Given the description of an element on the screen output the (x, y) to click on. 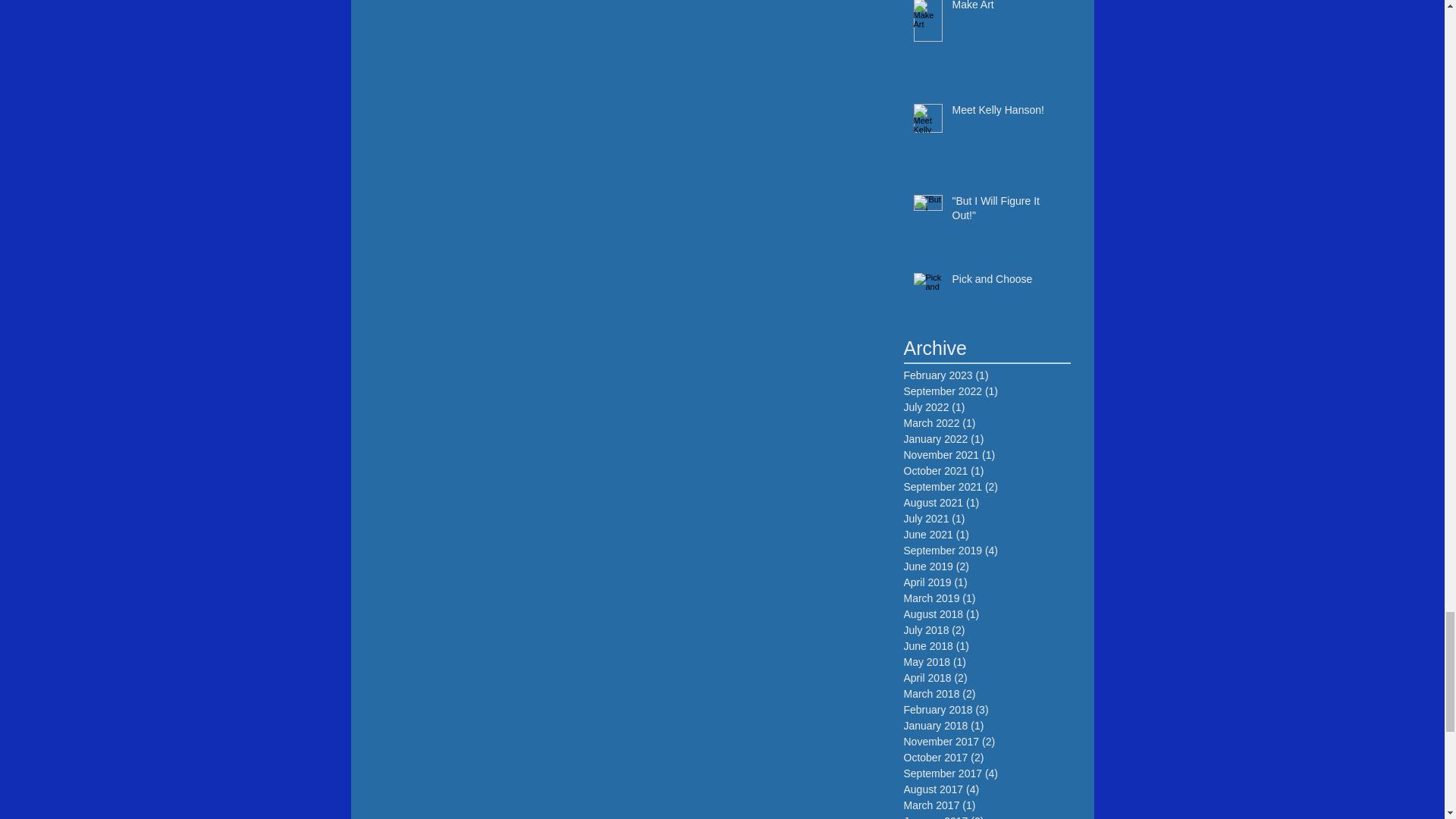
"But I Will Figure It Out!" (1006, 212)
Pick and Choose (1006, 282)
Meet Kelly Hanson! (1006, 113)
Make Art (1006, 9)
